Given the description of an element on the screen output the (x, y) to click on. 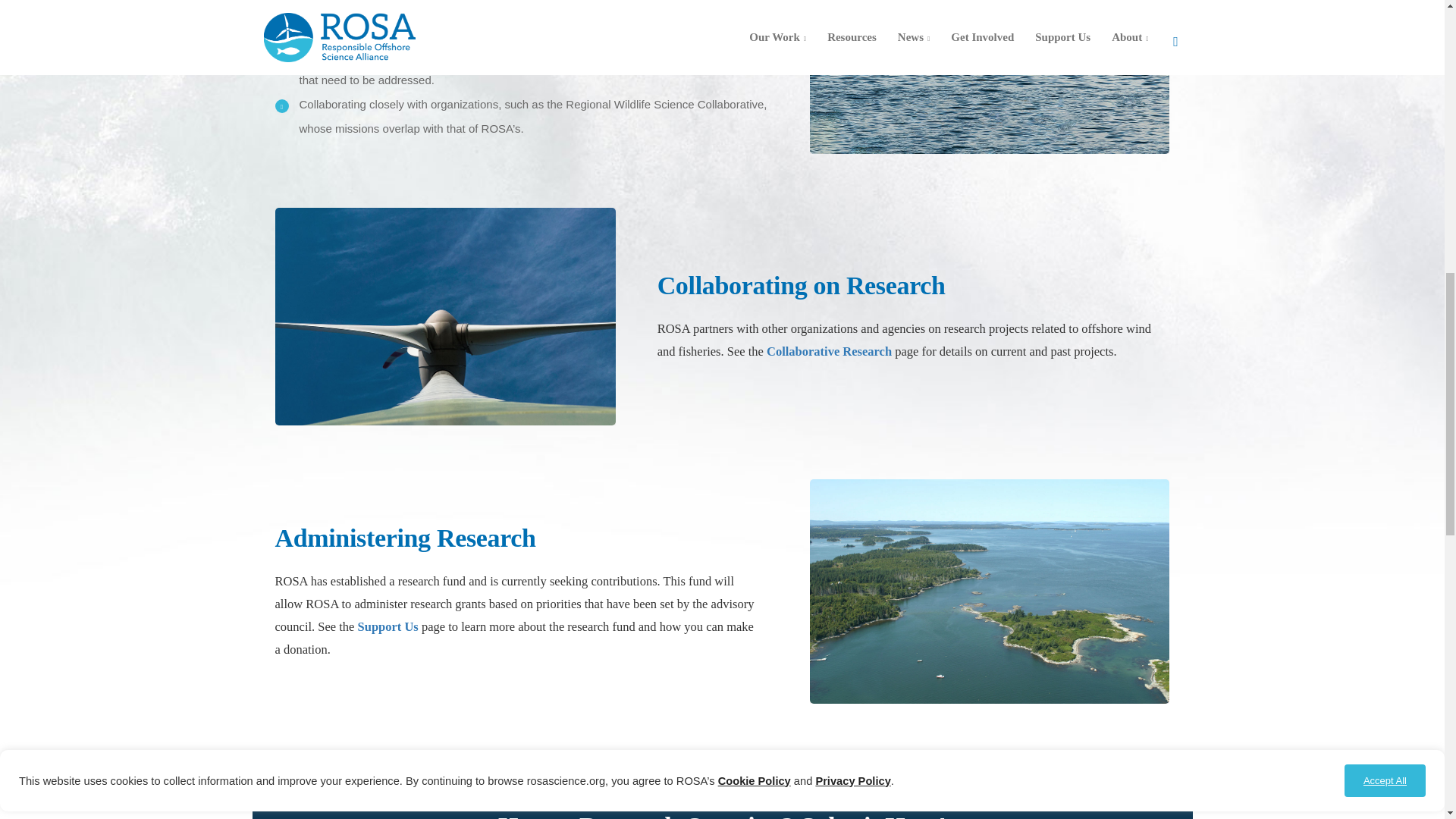
Support Us (388, 626)
Collaborative Research (829, 350)
research framework (416, 55)
